Given the description of an element on the screen output the (x, y) to click on. 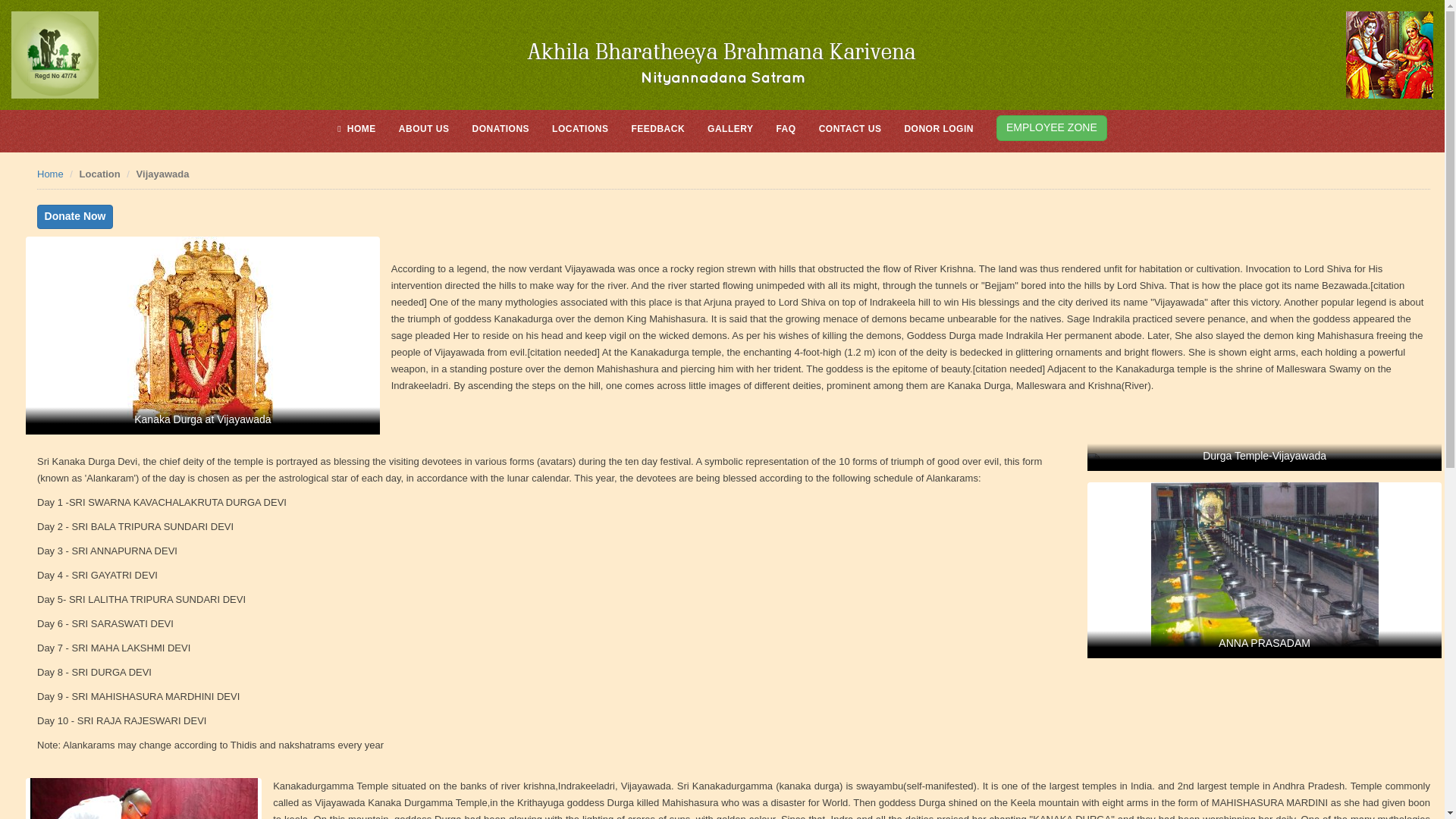
DONOR LOGIN (939, 128)
CONTACT US (850, 128)
FEEDBACK (657, 128)
GALLERY (729, 128)
  HOME (356, 128)
EMPLOYEE ZONE (1050, 130)
EMPLOYEE ZONE (1050, 127)
Home (50, 173)
LOCATIONS (579, 128)
DONATIONS (500, 128)
Donate Now (75, 216)
ABOUT US (423, 128)
